Given the description of an element on the screen output the (x, y) to click on. 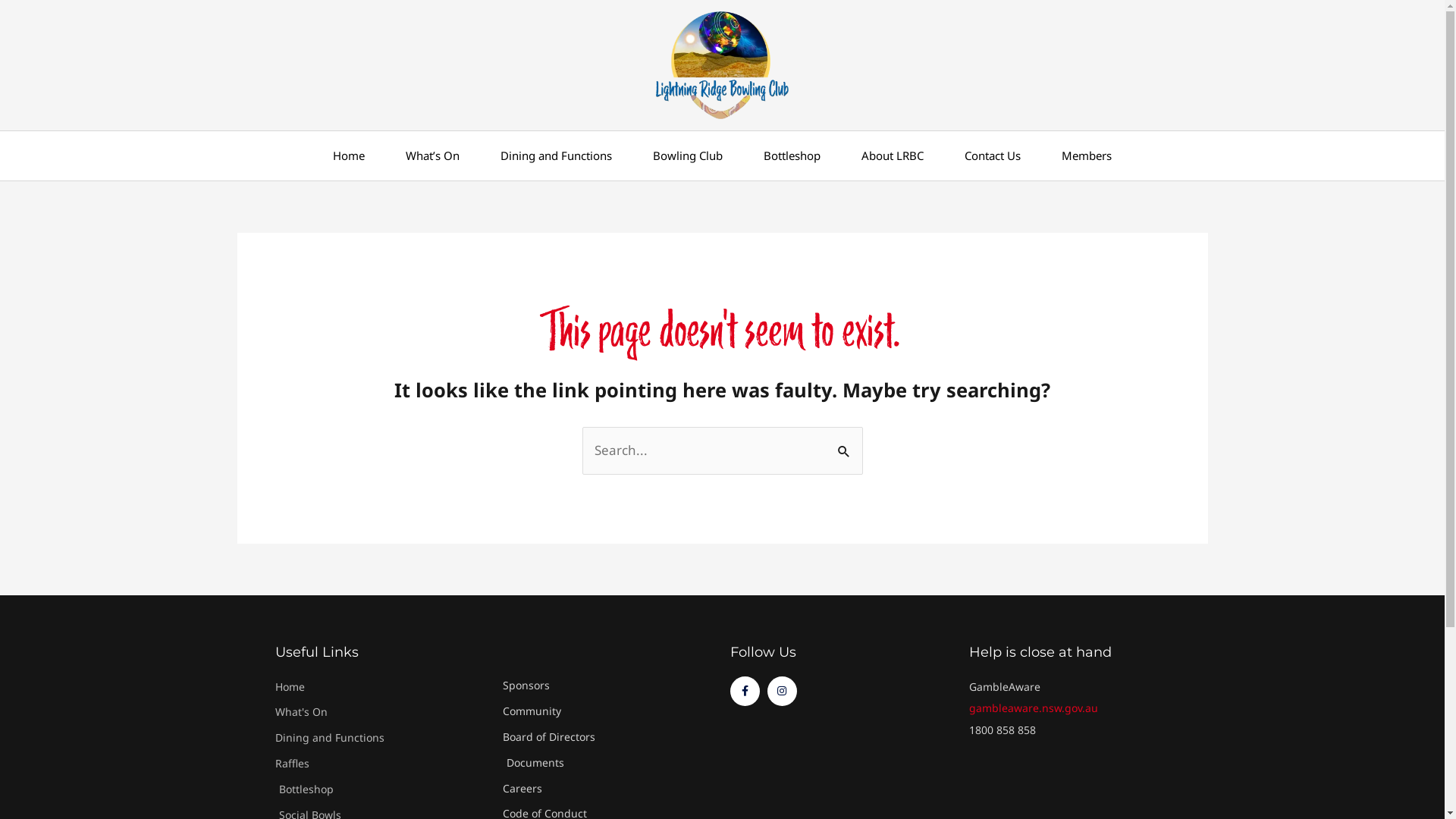
Bottleshop Element type: text (380, 789)
Documents Element type: text (608, 763)
Careers Element type: text (608, 789)
Community Element type: text (608, 711)
Bowling Club Element type: text (687, 155)
gambleaware.nsw.gov.au Element type: text (1033, 707)
Dining and Functions Element type: text (556, 155)
About LRBC Element type: text (892, 155)
Members Element type: text (1086, 155)
Contact Us Element type: text (992, 155)
Board of Directors Element type: text (608, 737)
Sponsors Element type: text (608, 685)
Dining and Functions Element type: text (380, 738)
Instagram Element type: text (782, 691)
Raffles Element type: text (380, 764)
Home Element type: text (380, 687)
What's On Element type: text (380, 712)
Facebook-f Element type: text (744, 691)
Search Element type: text (845, 441)
Home Element type: text (348, 155)
Bottleshop Element type: text (791, 155)
